Given the description of an element on the screen output the (x, y) to click on. 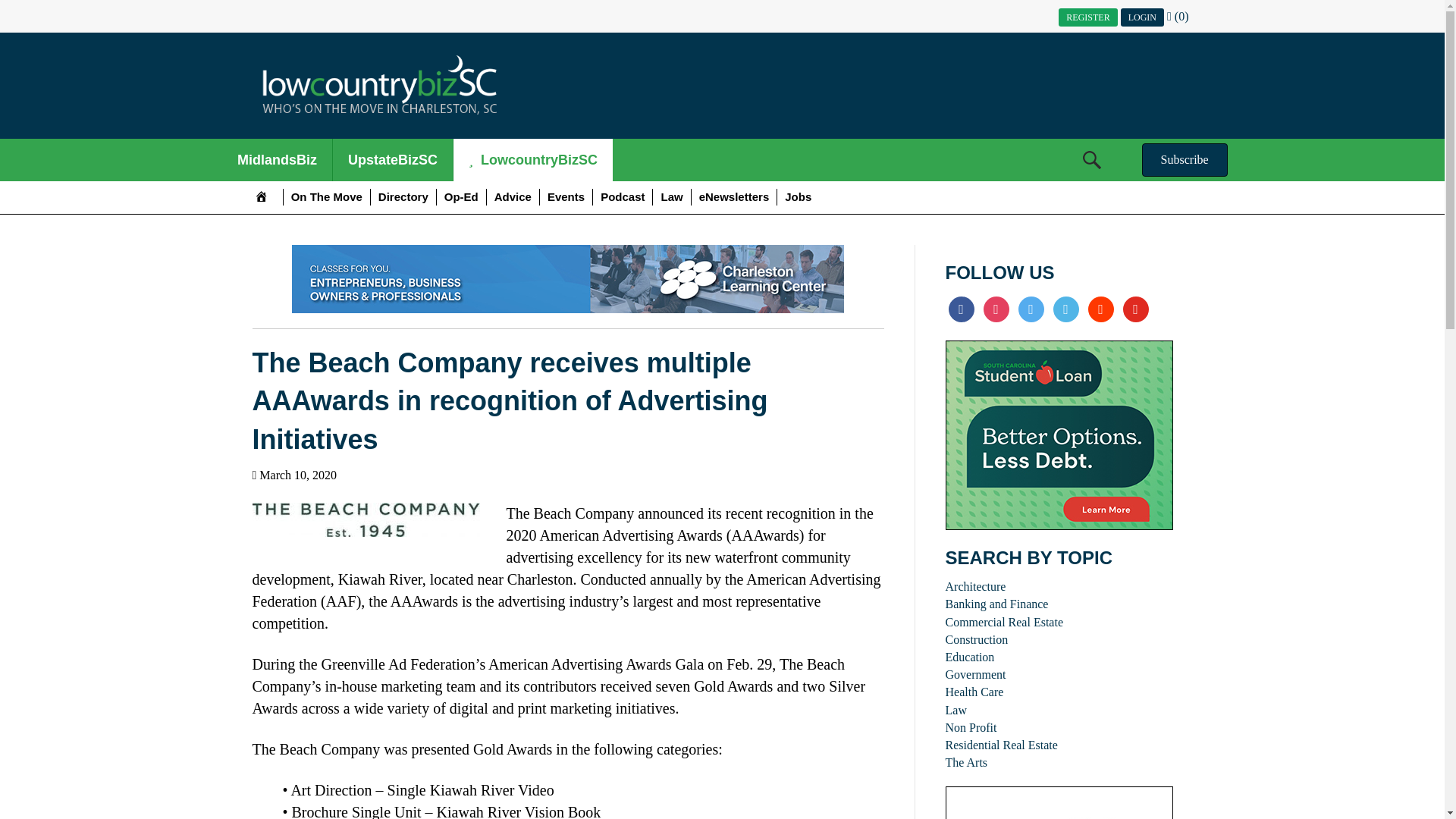
LowcountryBizSC (532, 159)
Directory (403, 197)
MidlandsBiz (276, 159)
Advice (512, 197)
Law (671, 197)
Subscribe (1184, 159)
logo-n (379, 85)
REGISTER (1087, 17)
eNewsletters (734, 197)
On The Move (326, 197)
LOGIN (1142, 17)
Events (566, 197)
UpstateBizSC (392, 159)
